Given the description of an element on the screen output the (x, y) to click on. 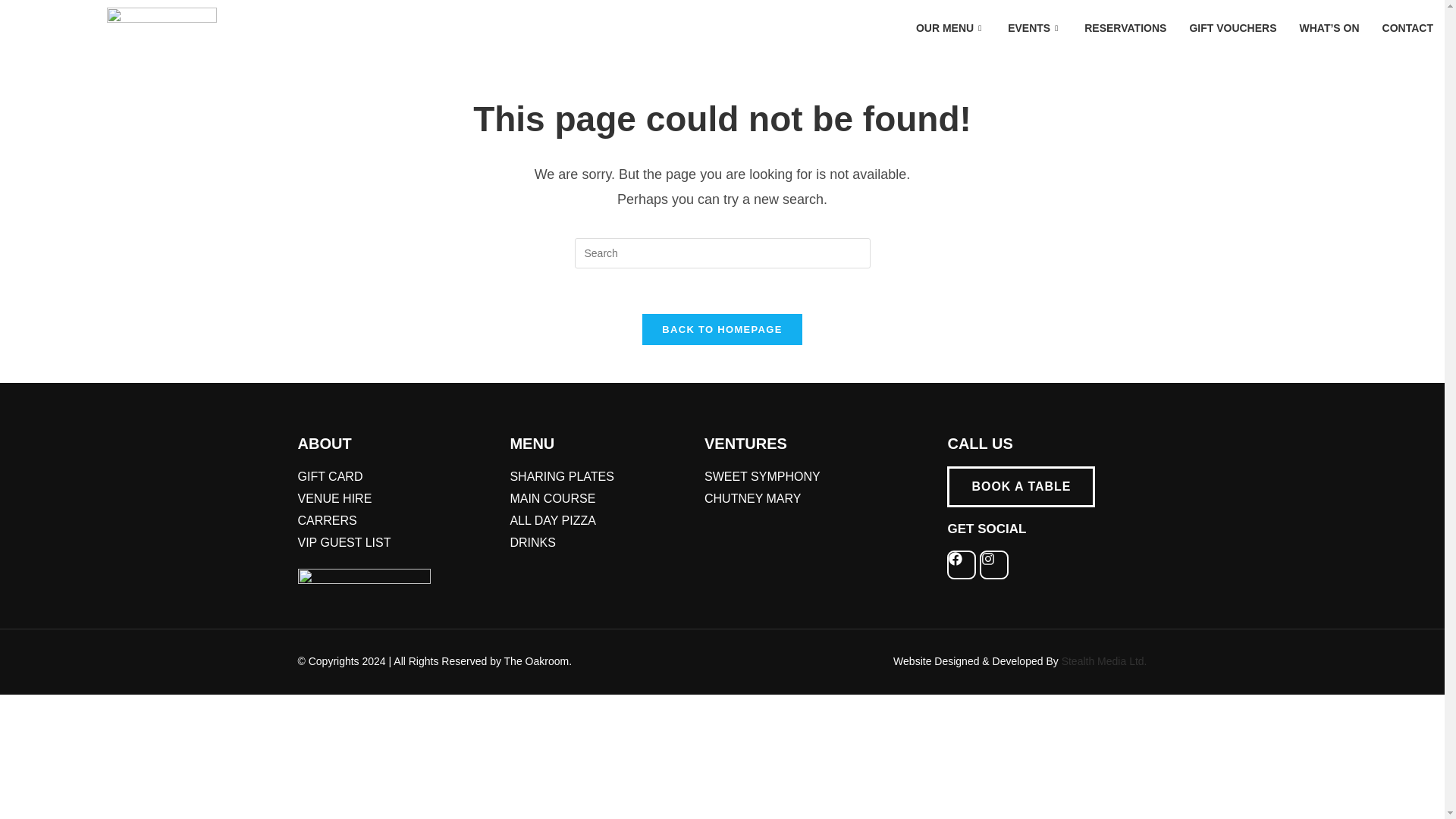
EVENTS (1034, 27)
ALL DAY PIZZA (598, 521)
GIFT VOUCHERS (1232, 27)
CARRERS (395, 521)
BOOK A TABLE (1020, 486)
Stealth Media Ltd. (1102, 661)
BACK TO HOMEPAGE (722, 328)
MAIN COURSE (598, 499)
VIP GUEST LIST (395, 543)
SHARING PLATES (598, 477)
